Given the description of an element on the screen output the (x, y) to click on. 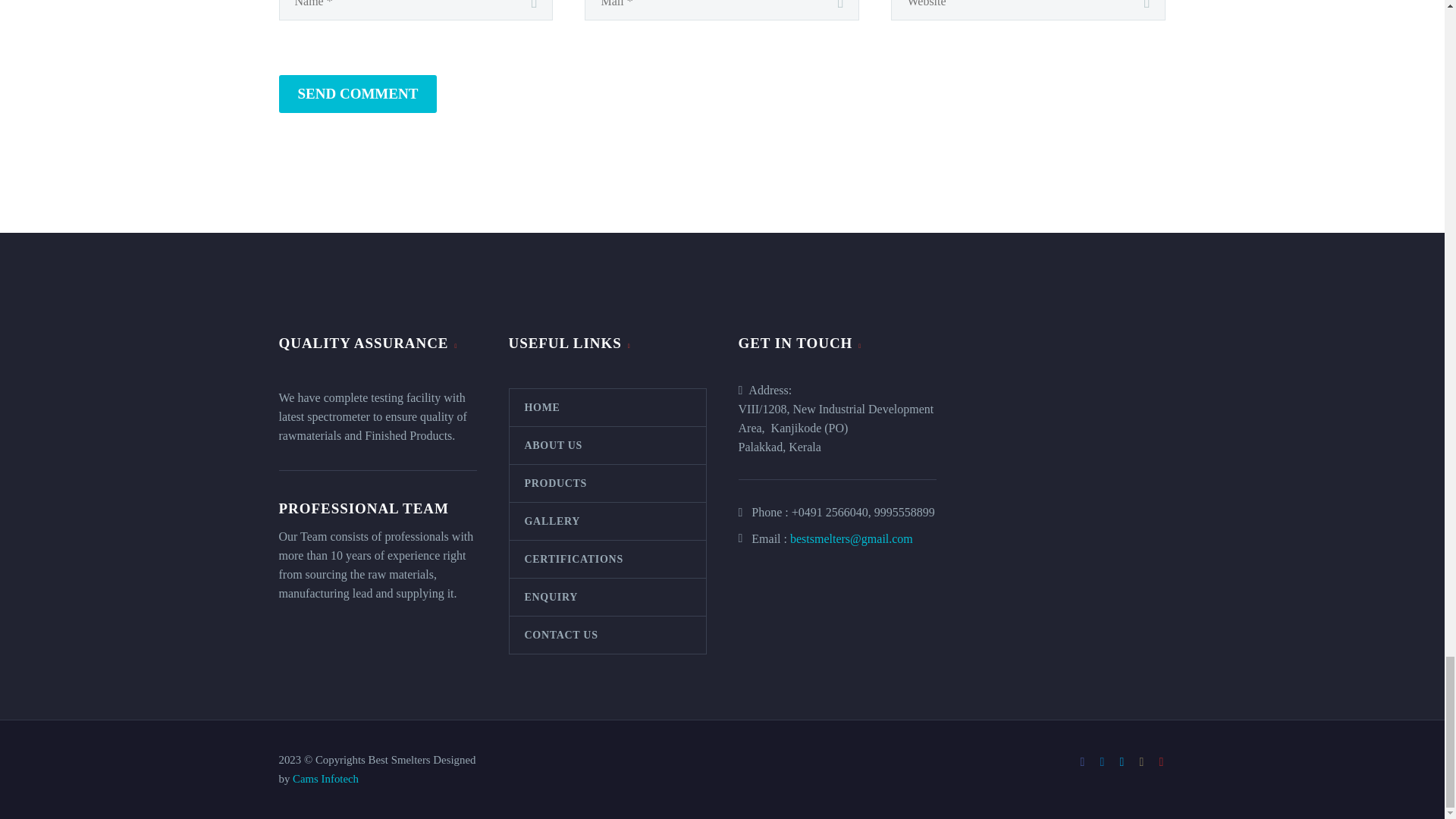
ENQUIRY (607, 596)
Twitter (1122, 761)
HOME (607, 407)
PRODUCTS (607, 483)
SEND COMMENT (358, 94)
CERTIFICATIONS (607, 559)
Facebook (1083, 761)
LinkedIn (1102, 761)
GALLERY (607, 520)
ABOUT US (607, 445)
